Given the description of an element on the screen output the (x, y) to click on. 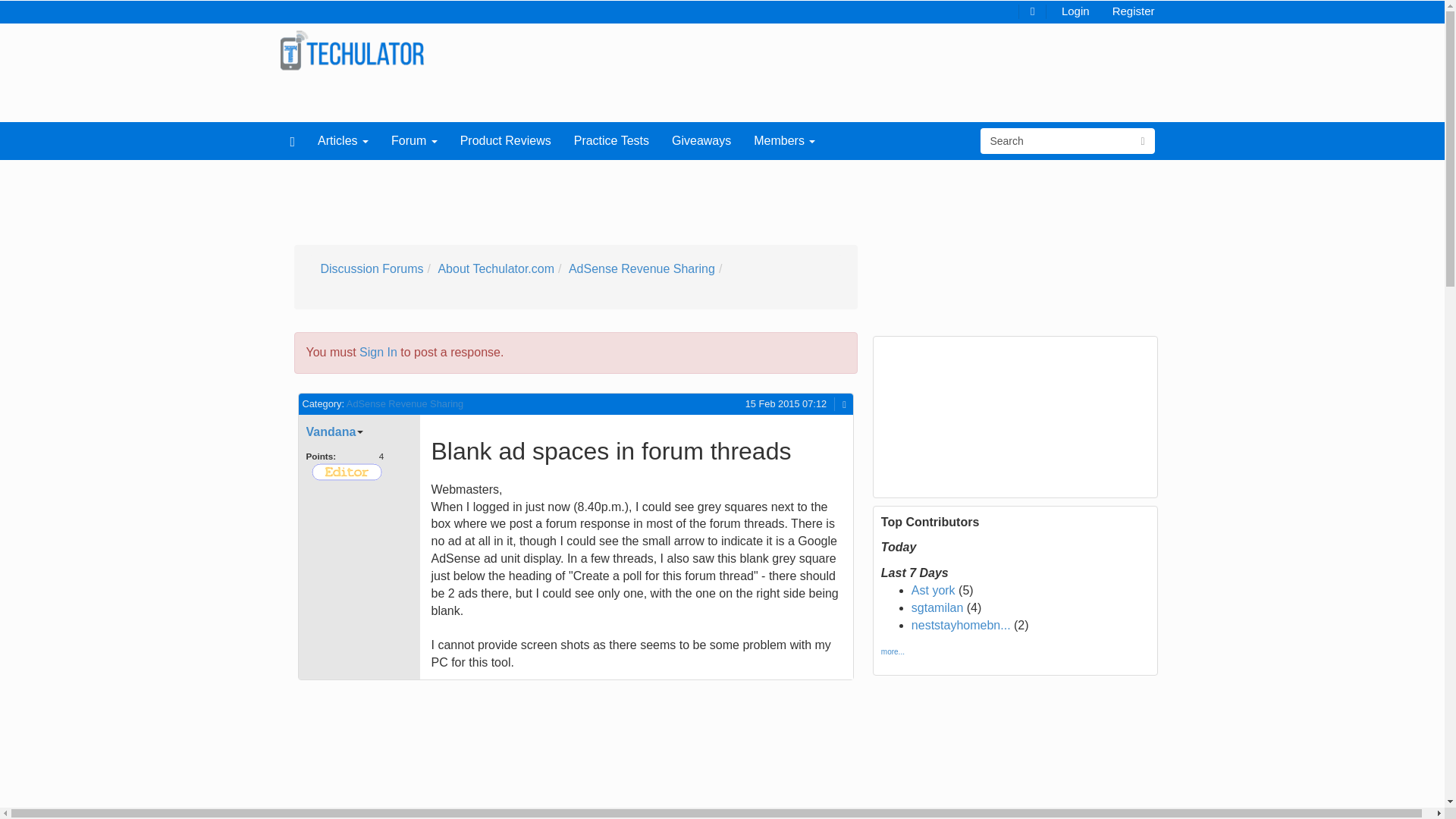
Search (1055, 140)
Advertisement (428, 753)
Articles (342, 140)
Software and Gadget reviews (352, 50)
Register (1133, 9)
Forum (414, 140)
Advertisement (642, 197)
Login (1074, 9)
